Given the description of an element on the screen output the (x, y) to click on. 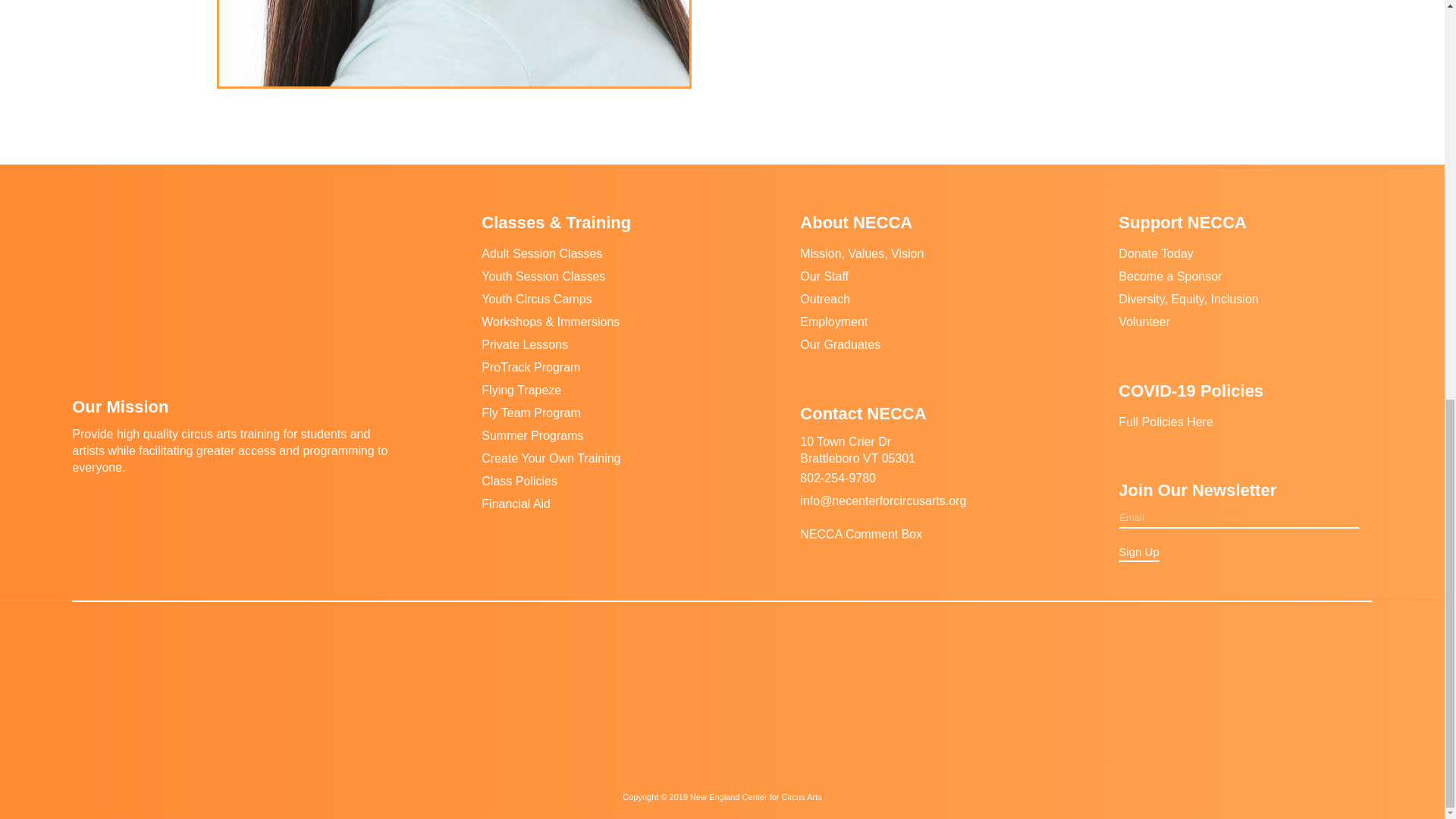
Sign Up (1138, 553)
necca-2023-admin-kennedy-brown (454, 43)
